Given the description of an element on the screen output the (x, y) to click on. 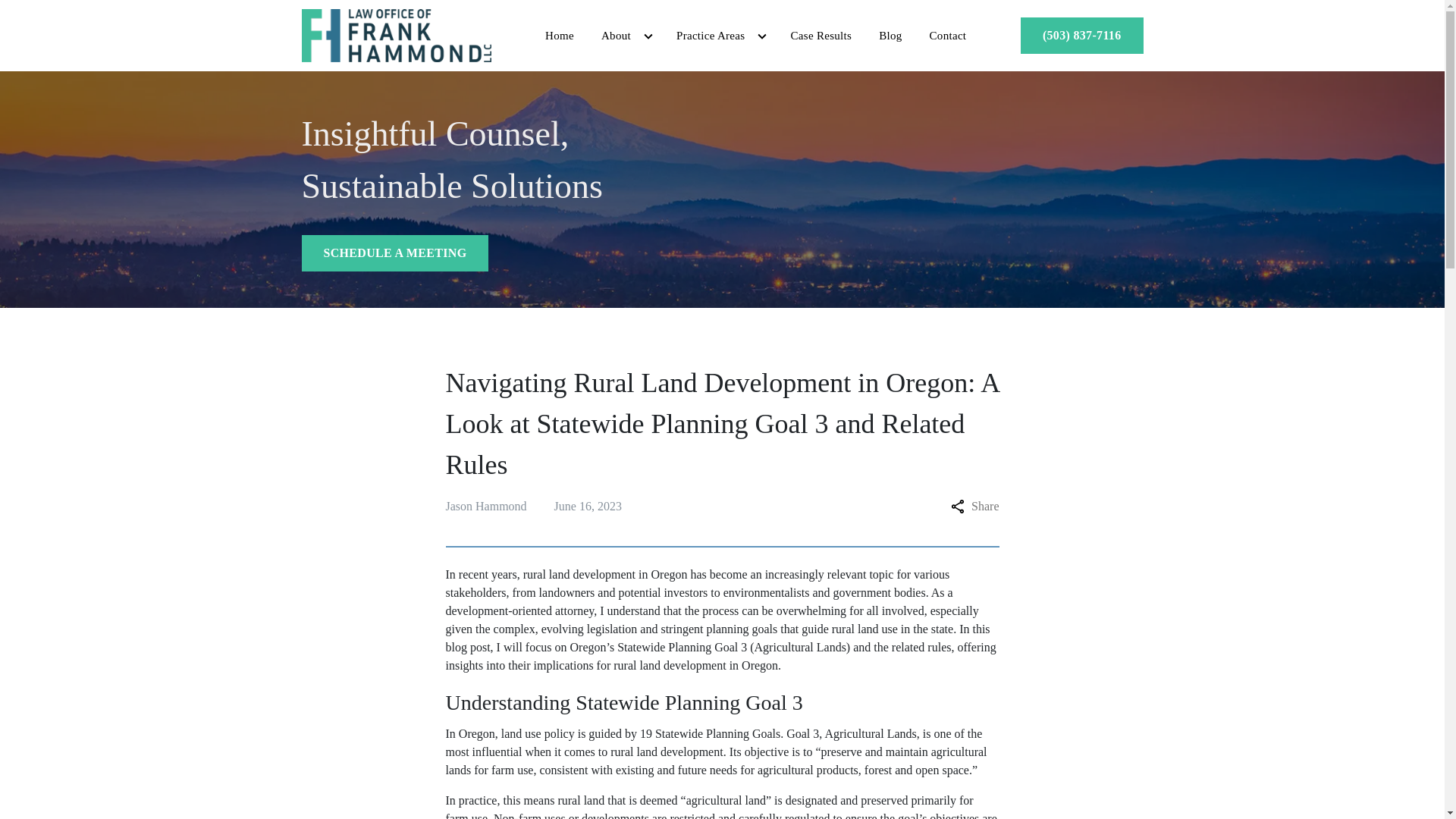
Blog (889, 35)
Contact (947, 35)
About (609, 35)
Home (559, 35)
Case Results (820, 35)
Share (974, 506)
Practice Areas (703, 35)
SCHEDULE A MEETING (395, 253)
